Given the description of an element on the screen output the (x, y) to click on. 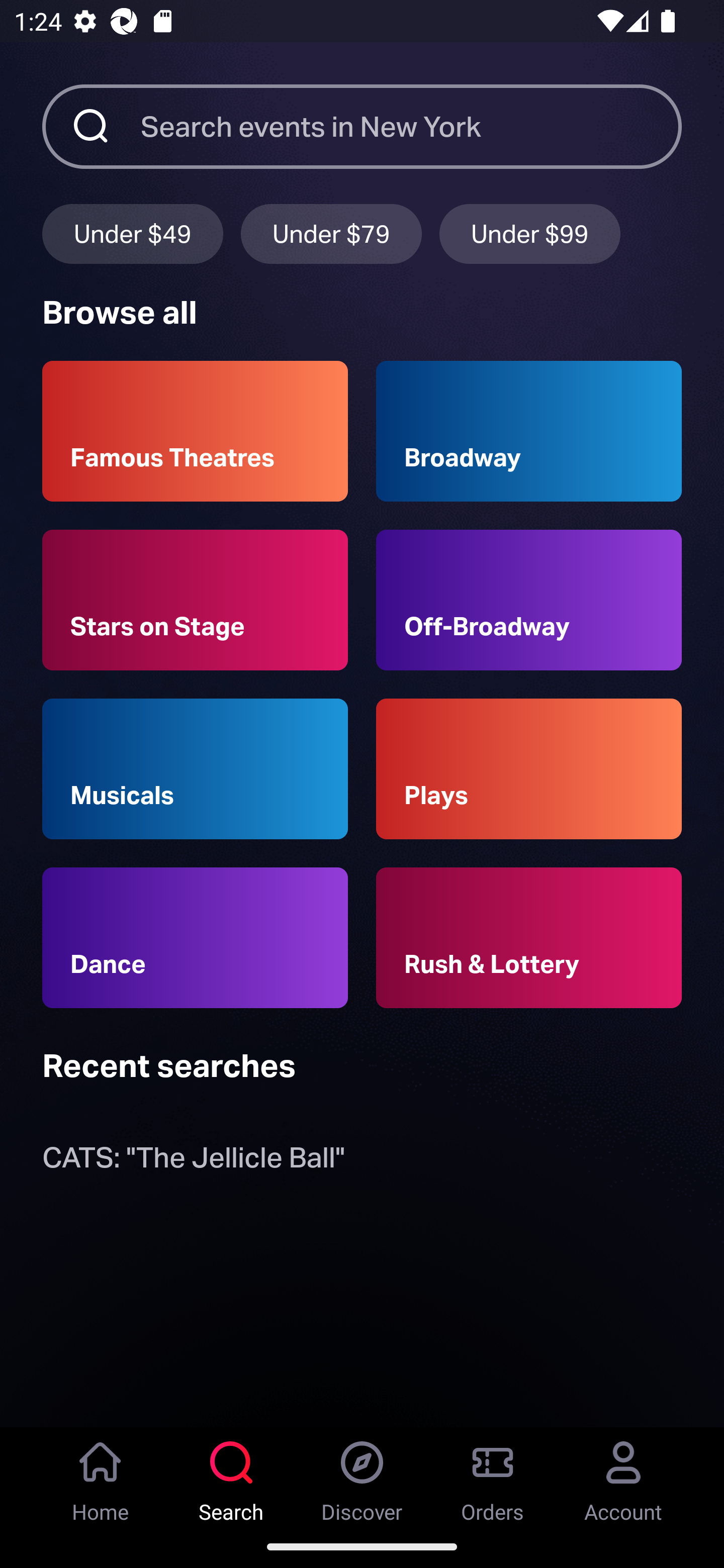
Search events in New York (411, 126)
Under $49 (131, 233)
Under $79 (331, 233)
Under $99 (529, 233)
Famous Theatres (194, 430)
Broadway (528, 430)
Stars on Stage (194, 600)
Off-Broadway (528, 600)
Musicals (194, 768)
Plays (528, 768)
Dance (194, 937)
Rush & Lottery (528, 937)
CATS: "The Jellicle Ball" (193, 1161)
Home (100, 1475)
Discover (361, 1475)
Orders (492, 1475)
Account (623, 1475)
